Given the description of an element on the screen output the (x, y) to click on. 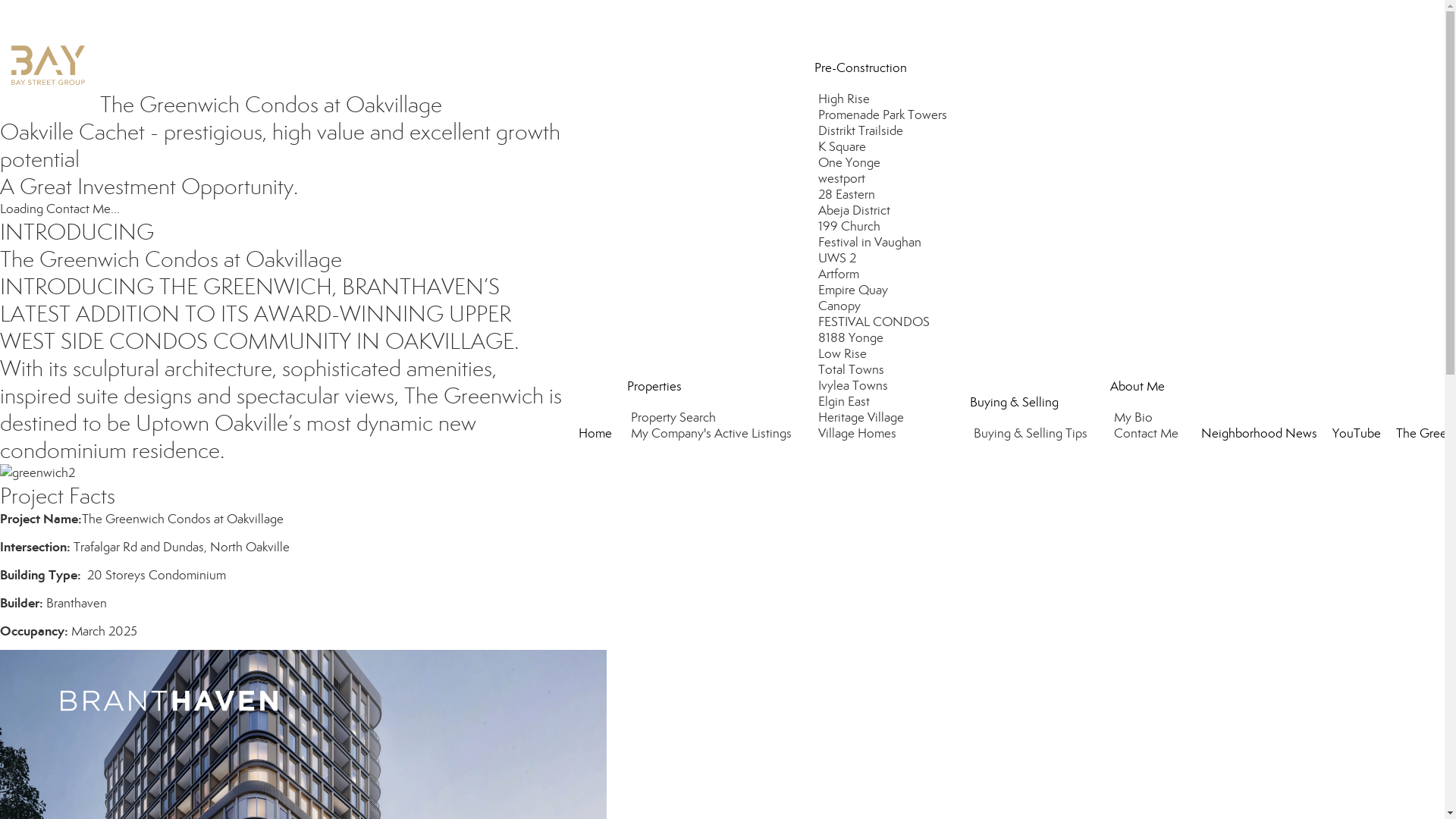
Buying & Selling Element type: text (1014, 402)
My Bio Element type: text (1134, 417)
High Rise Element type: text (845, 98)
UWS 2 Element type: text (838, 257)
Heritage Village Element type: text (862, 417)
Contact Me Element type: text (1147, 433)
Empire Quay Element type: text (854, 289)
Home Element type: text (595, 433)
One Yonge Element type: text (850, 162)
YouTube Element type: text (1356, 433)
westport Element type: text (843, 178)
8188 Yonge Element type: text (852, 337)
Ivylea Towns Element type: text (854, 385)
Pre-Construction Element type: text (860, 67)
greenwich2 Element type: hover (37, 473)
FESTIVAL CONDOS Element type: text (875, 321)
199 Church Element type: text (850, 226)
K Square Element type: text (843, 146)
Village Homes Element type: text (858, 433)
Properties Element type: text (654, 386)
Distrikt Trailside Element type: text (862, 130)
Promenade Park Towers Element type: text (884, 114)
Property Search Element type: text (675, 417)
Low Rise Element type: text (843, 353)
Artform Element type: text (840, 273)
28 Eastern Element type: text (848, 194)
Festival in Vaughan Element type: text (871, 241)
Total Towns Element type: text (852, 369)
Elgin East Element type: text (845, 401)
Abeja District Element type: text (855, 210)
Neighborhood News Element type: text (1258, 433)
My Company's Active Listings Element type: text (712, 433)
About Me Element type: text (1137, 386)
Buying & Selling Tips Element type: text (1032, 433)
Canopy Element type: text (840, 305)
